Given the description of an element on the screen output the (x, y) to click on. 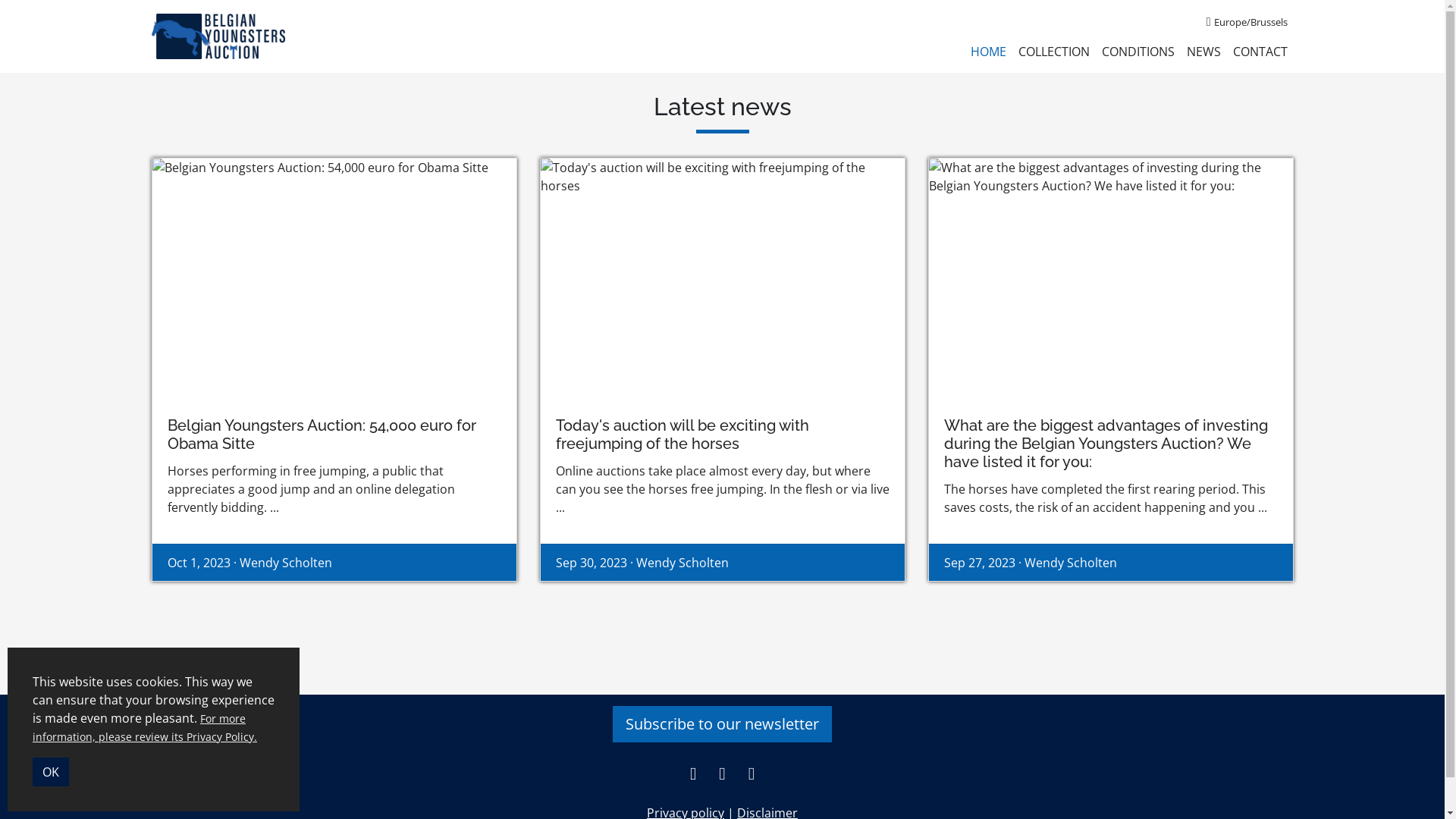
Subscribe to our newsletter Element type: text (721, 724)
OK Element type: text (50, 771)
COLLECTION Element type: text (1053, 51)
CONTACT Element type: text (1259, 51)
HOME Element type: text (988, 51)
NEWS Element type: text (1202, 51)
Europe/Brussels Element type: text (1246, 21)
For more information, please review its Privacy Policy. Element type: text (144, 727)
CONDITIONS Element type: text (1137, 51)
